Given the description of an element on the screen output the (x, y) to click on. 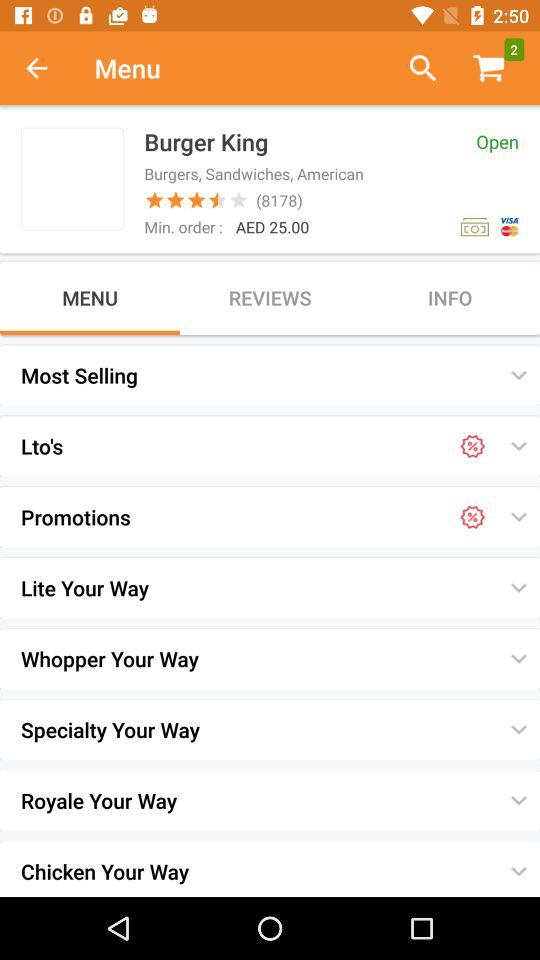
come back (47, 68)
